Given the description of an element on the screen output the (x, y) to click on. 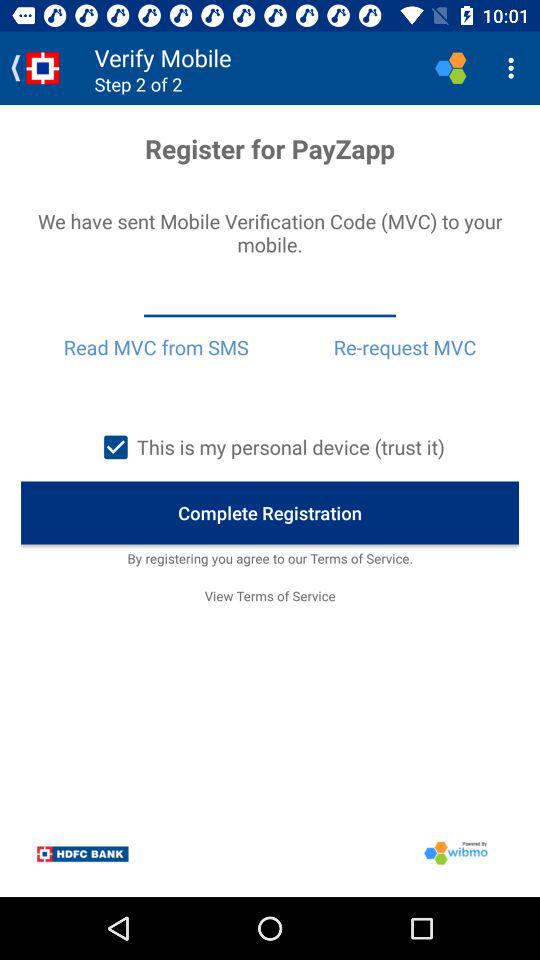
choose item above the this is my (404, 347)
